Given the description of an element on the screen output the (x, y) to click on. 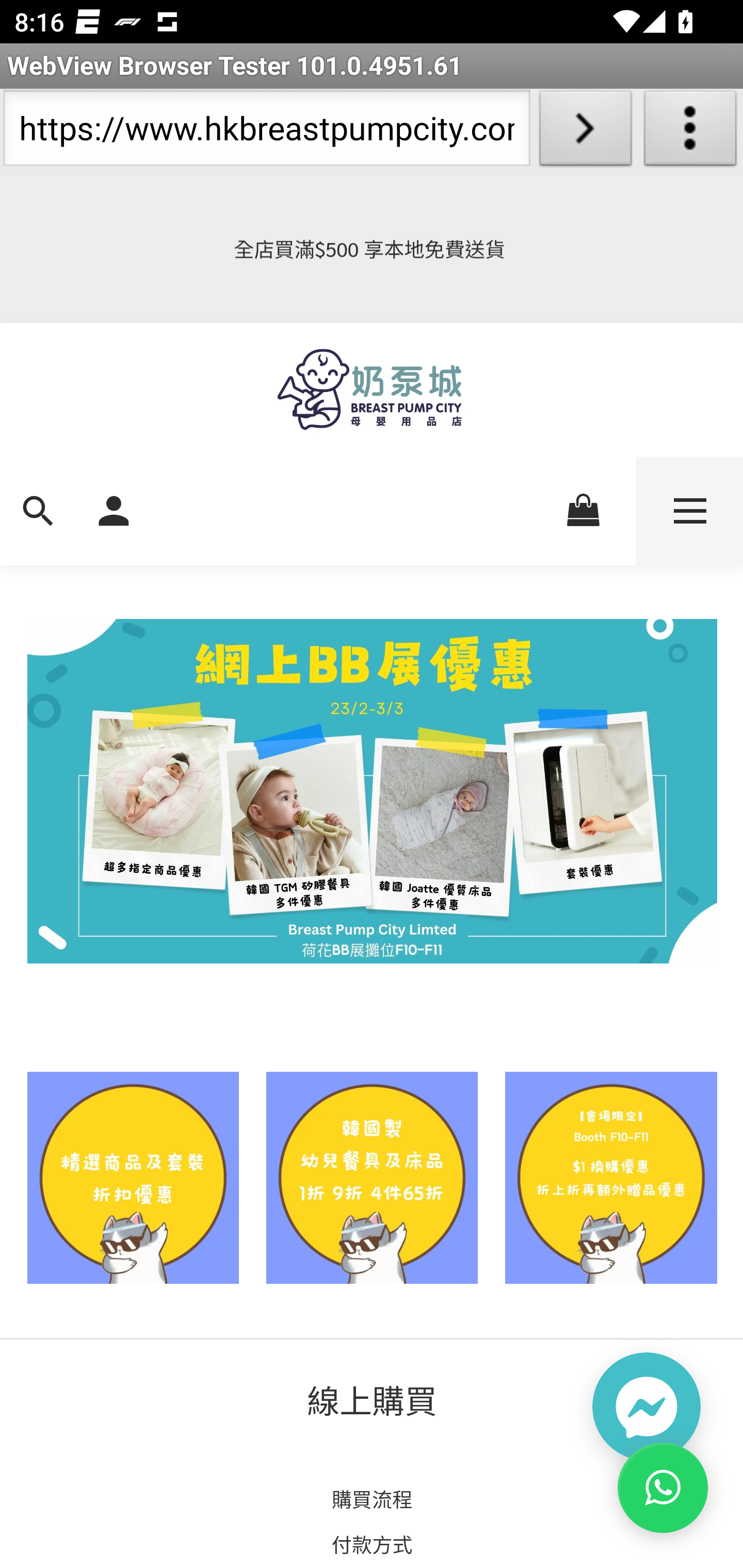
Load URL (585, 132)
About WebView (690, 132)
全店買滿$500 享本地免費送貨  (371, 249)
594x (371, 389)
sign_in (113, 508)
線上購買 (372, 1400)
購買流程 (371, 1499)
付款方式 (371, 1543)
